Given the description of an element on the screen output the (x, y) to click on. 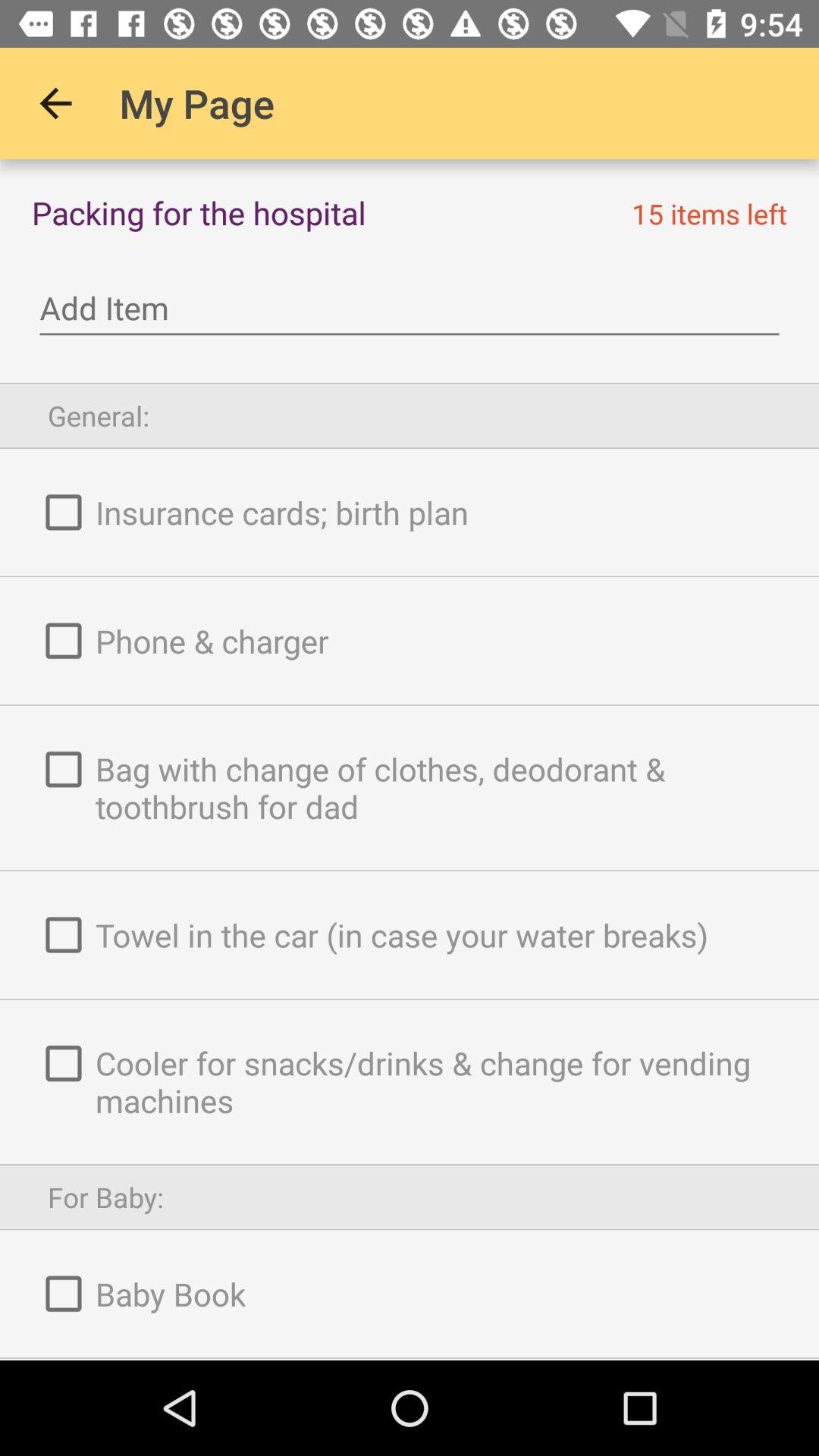
open icon to the left of the my page (55, 103)
